Given the description of an element on the screen output the (x, y) to click on. 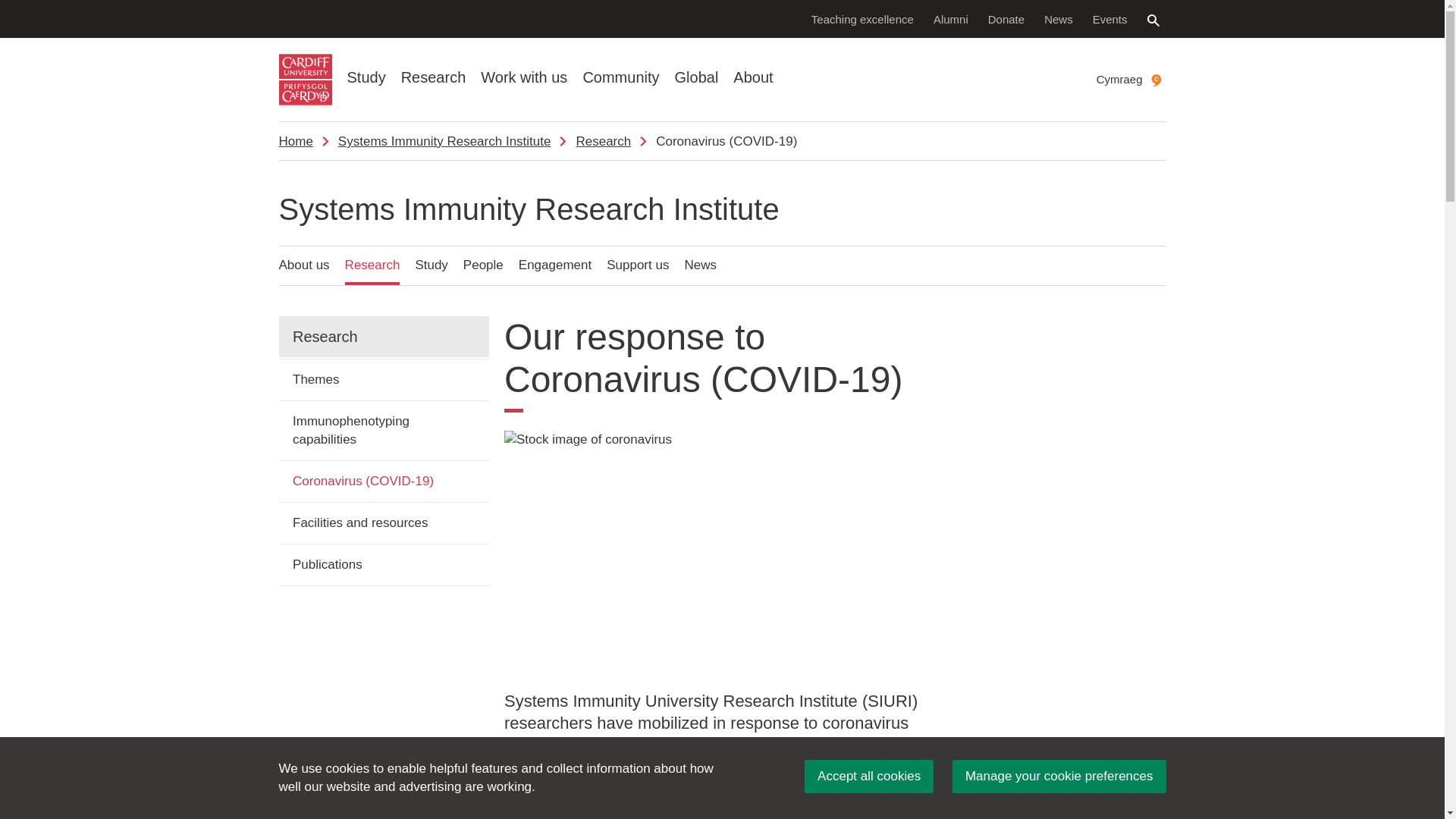
Events (1109, 19)
News (1058, 19)
Teaching excellence (862, 19)
Alumni (951, 19)
cymraeg (1155, 80)
Manage your cookie preferences (1059, 776)
Accept all cookies (869, 776)
Donate (1005, 19)
Cardiff University logo (305, 79)
Search (1152, 20)
